Given the description of an element on the screen output the (x, y) to click on. 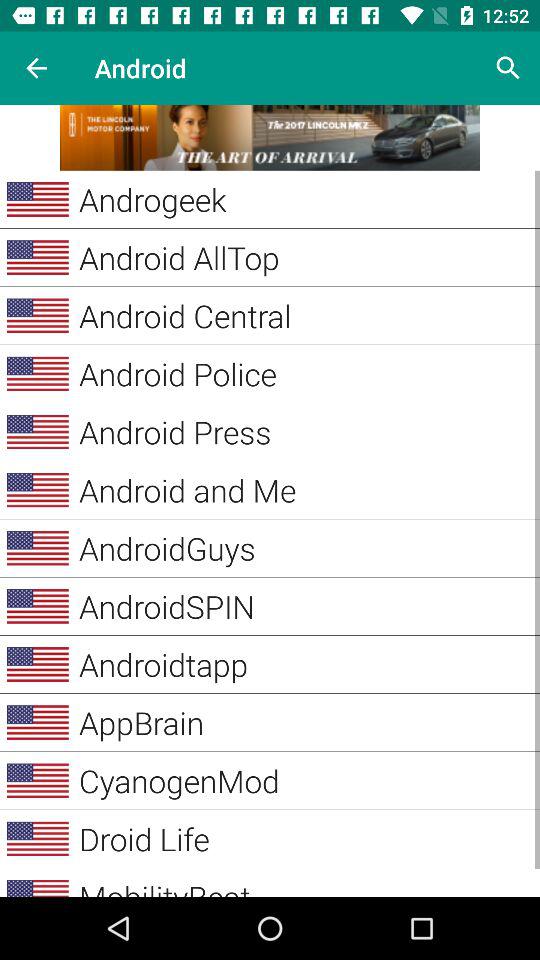
search (508, 67)
